Given the description of an element on the screen output the (x, y) to click on. 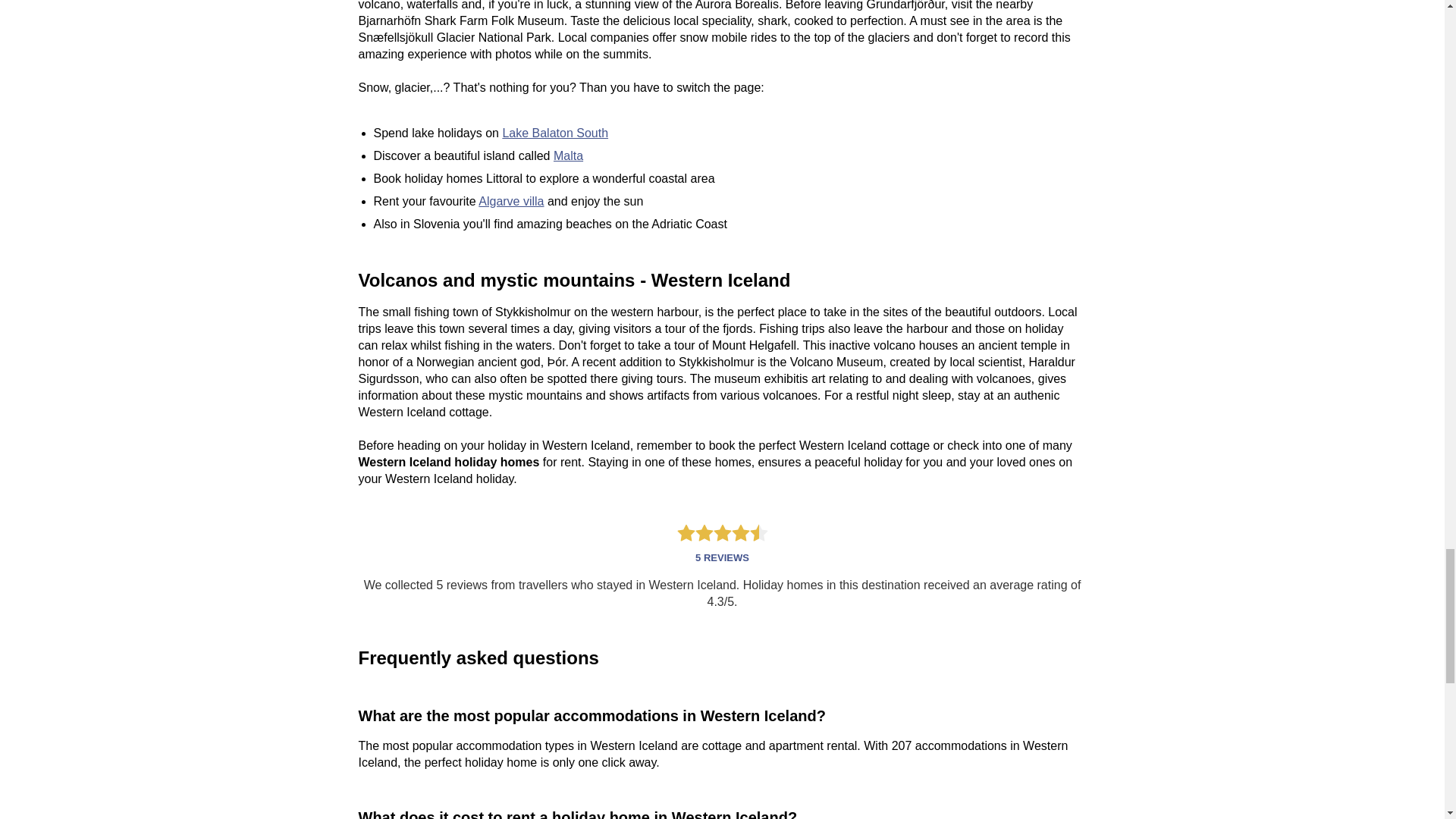
Algarve villa (511, 201)
Lake Balaton South (555, 132)
Malta (568, 155)
